Given the description of an element on the screen output the (x, y) to click on. 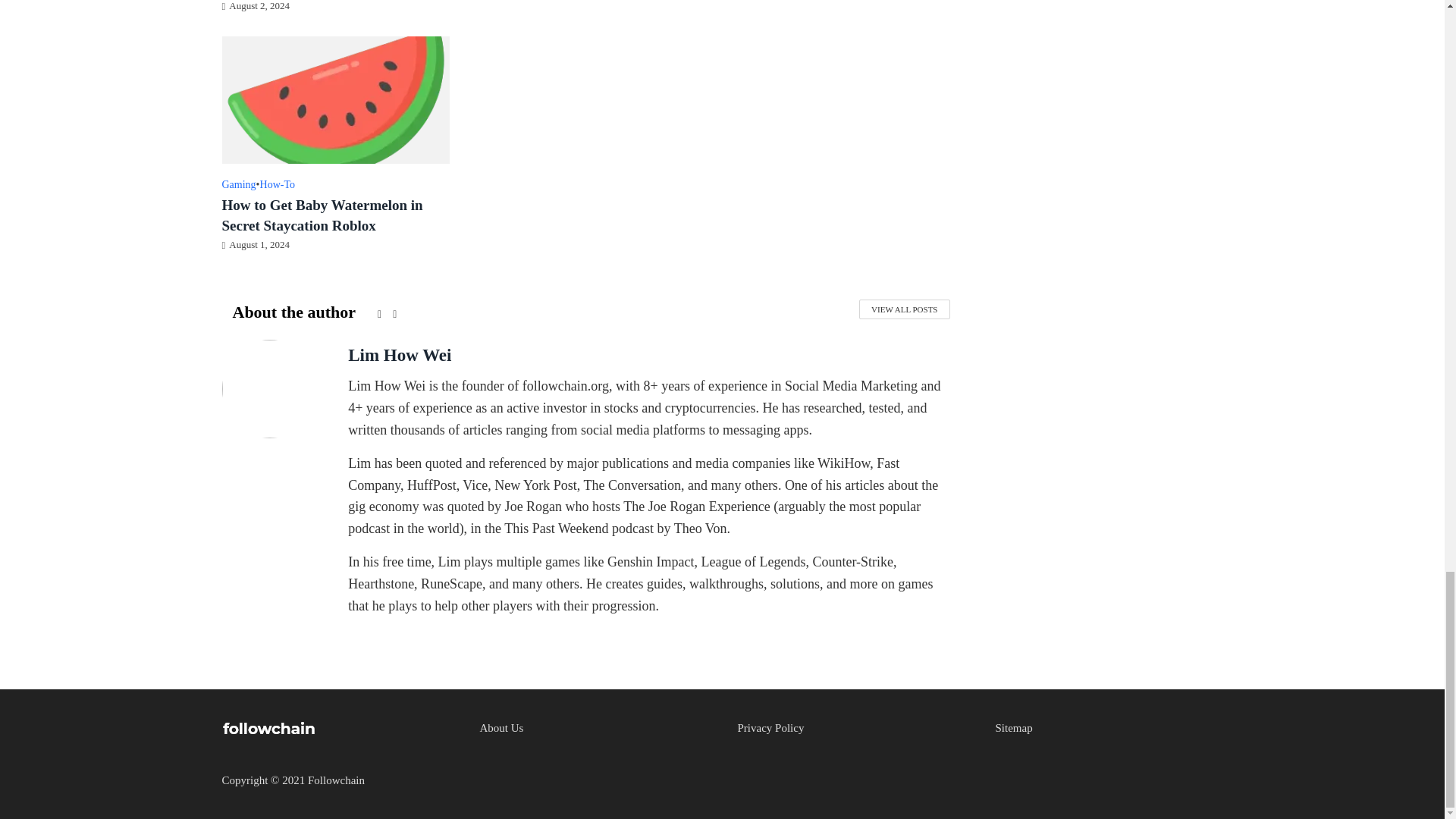
How to Get Baby Watermelon in Secret Staycation Roblox (334, 98)
